Given the description of an element on the screen output the (x, y) to click on. 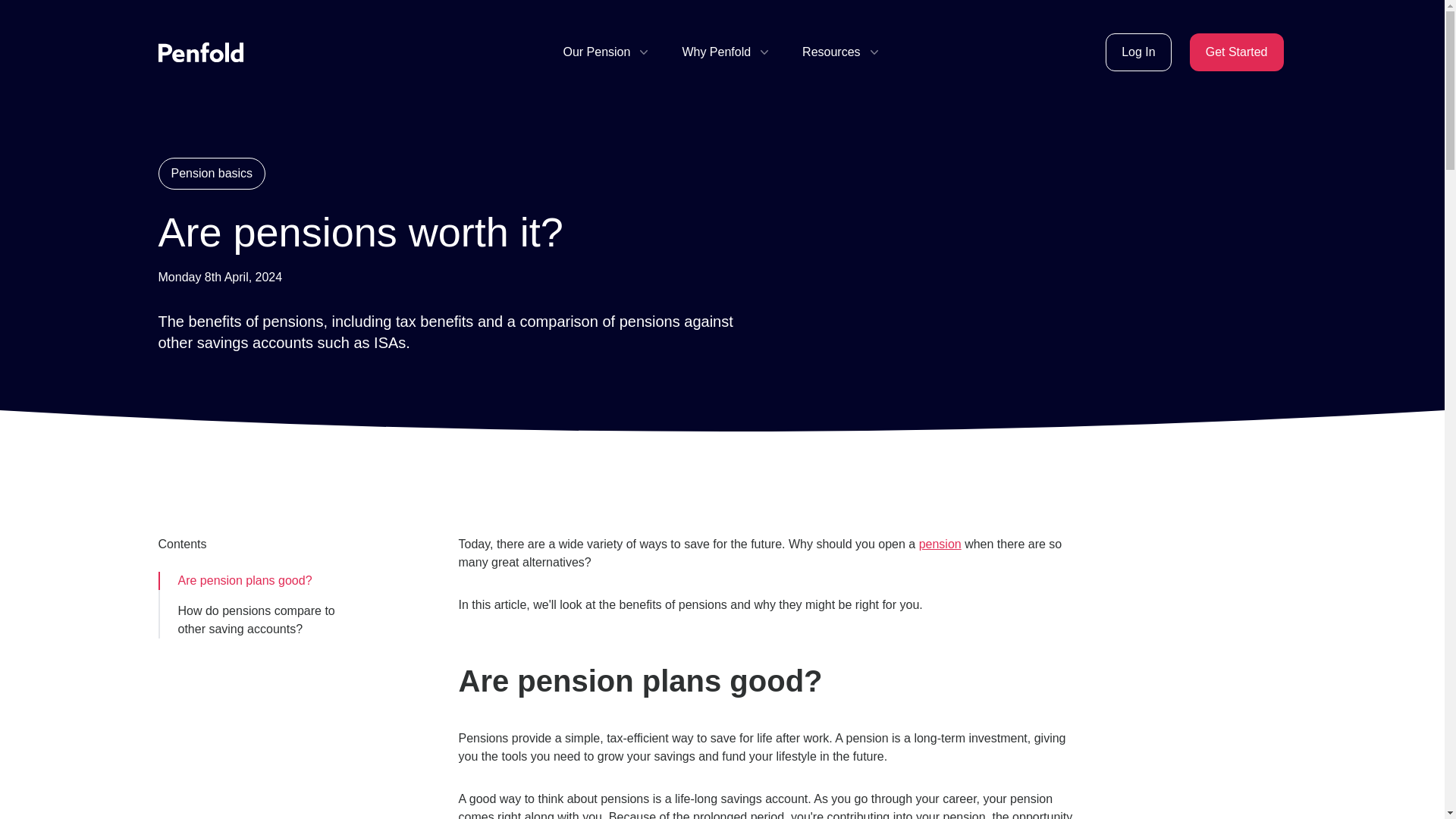
How do pensions compare to other saving accounts? (251, 619)
Get Started (1236, 52)
Penfold (200, 52)
Our Pension (606, 52)
Are pension plans good? (234, 580)
Resources (841, 52)
pension (939, 543)
Log In (1137, 52)
Pension basics (210, 173)
Why Penfold (726, 52)
